Given the description of an element on the screen output the (x, y) to click on. 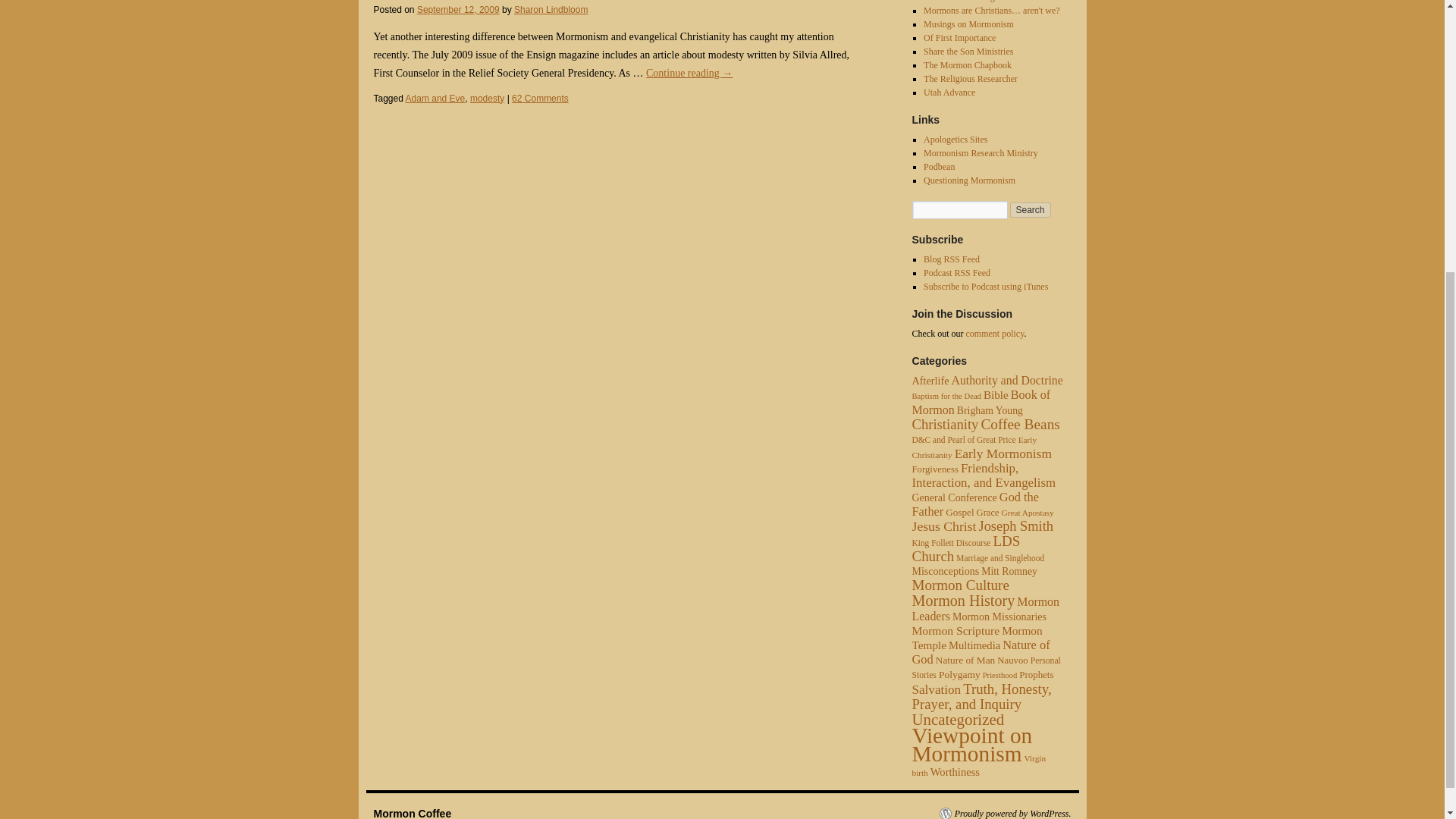
Viewpoint on Mormonism shows on Podbean (939, 166)
Adam and Eve (435, 98)
Search (1030, 209)
1:30 am (457, 9)
62 Comments (540, 98)
September 12, 2009 (457, 9)
modesty (486, 98)
Sharon Lindbloom (550, 9)
View all posts by Sharon Lindbloom (550, 9)
